Given the description of an element on the screen output the (x, y) to click on. 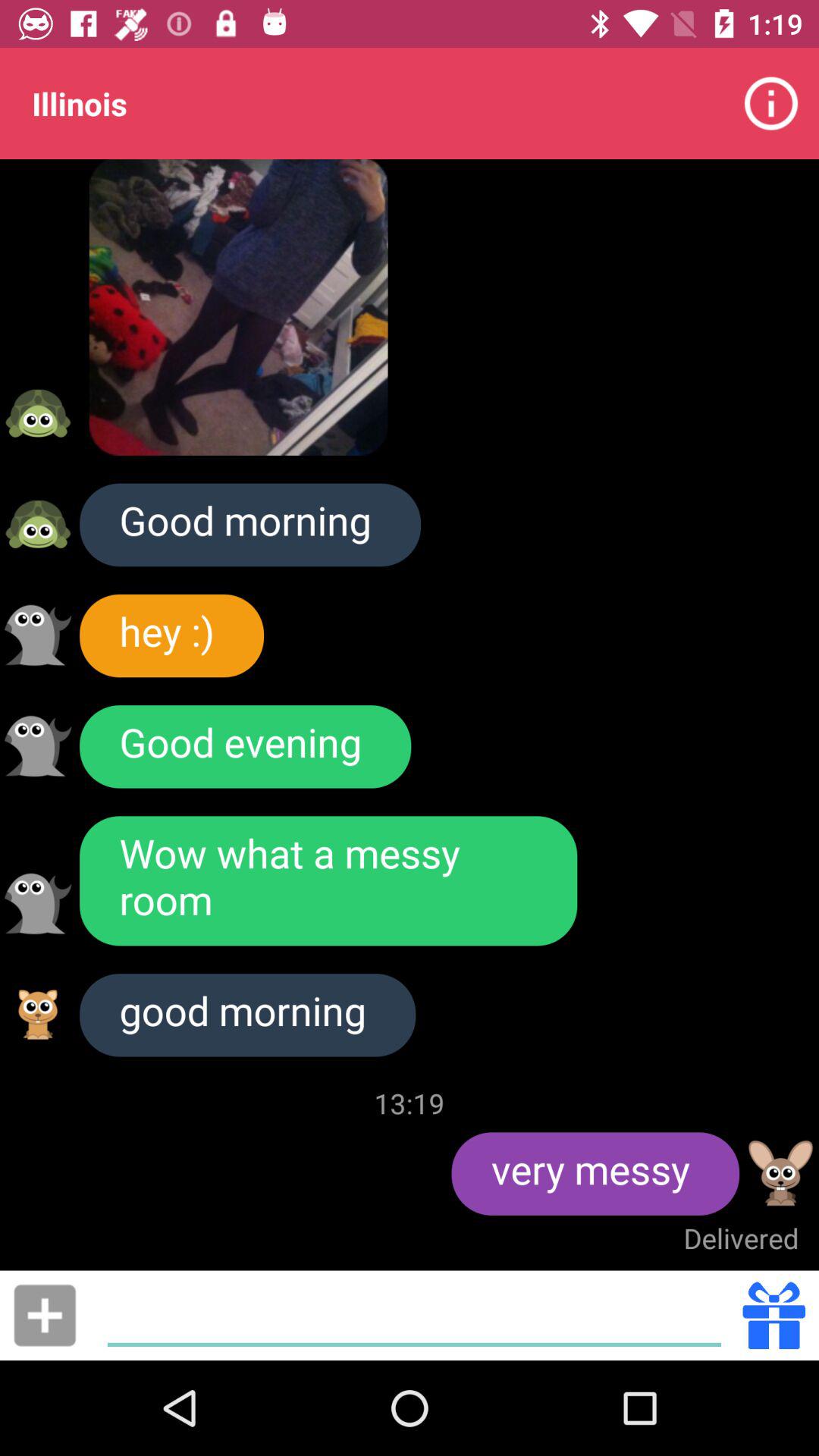
view all texts created by the person (38, 635)
